Given the description of an element on the screen output the (x, y) to click on. 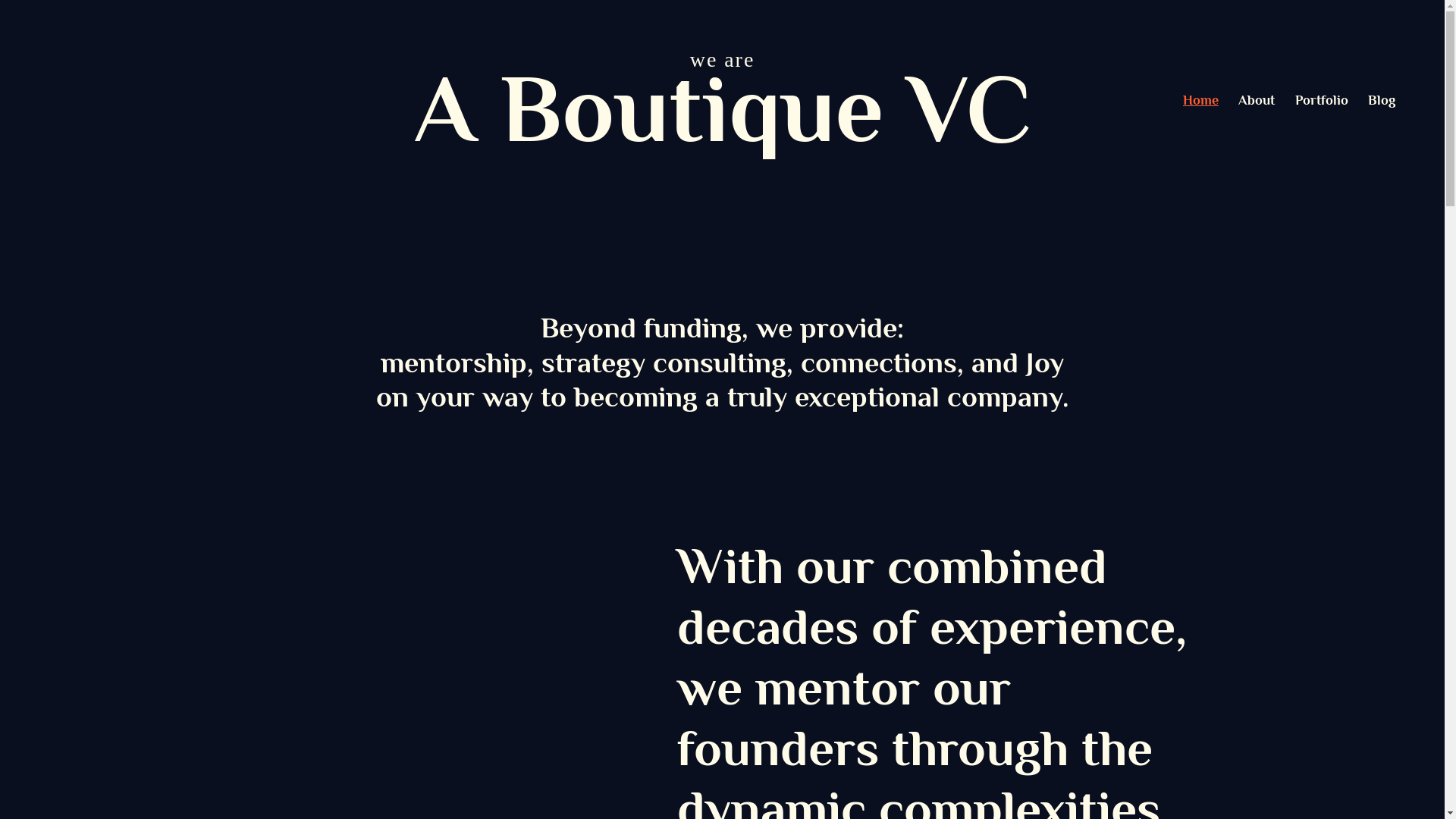
Portfolio Element type: text (1321, 99)
Home Element type: text (1200, 99)
About Element type: text (1256, 99)
Blog Element type: text (1381, 99)
